Given the description of an element on the screen output the (x, y) to click on. 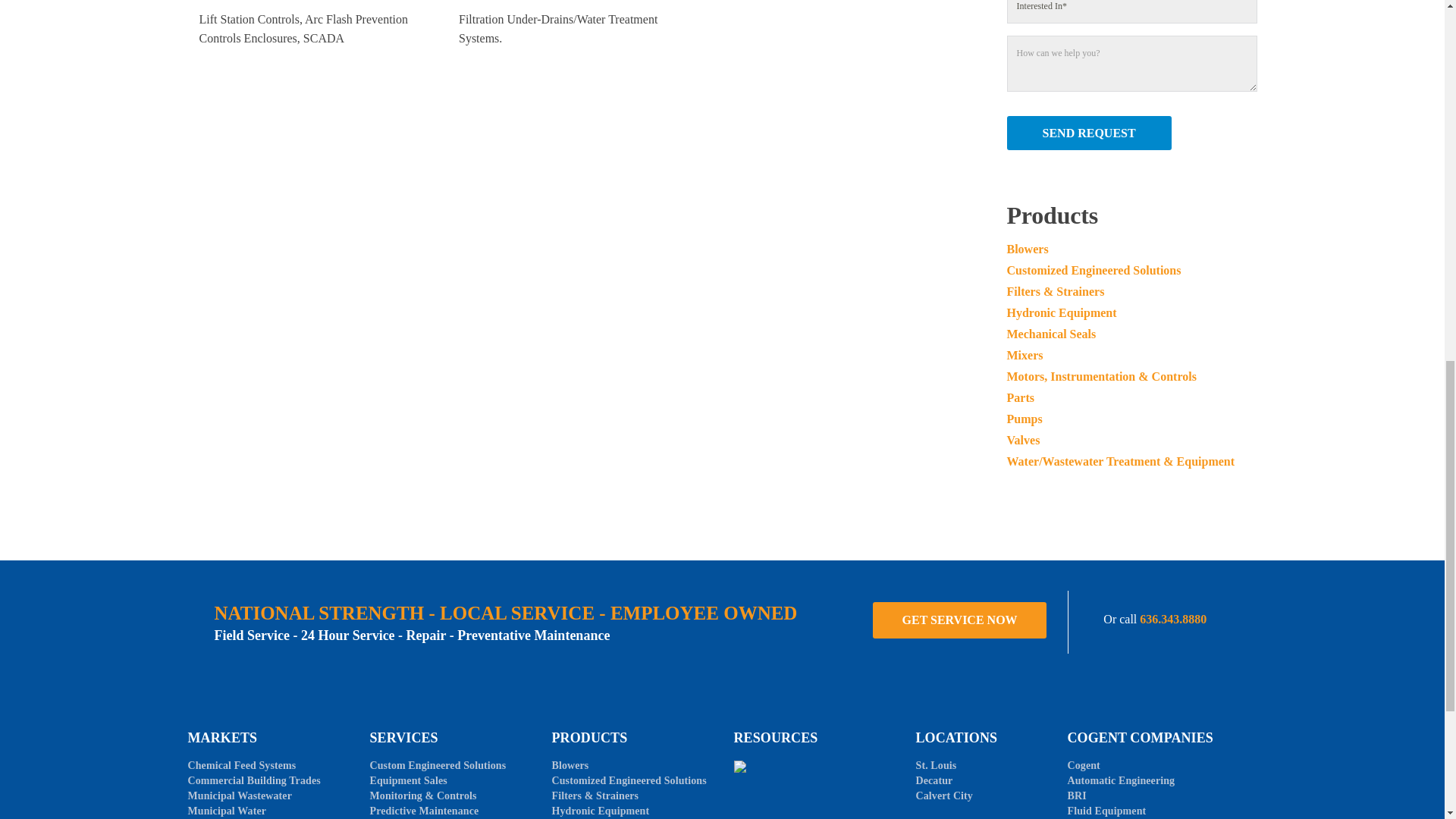
Cogent (1083, 765)
bri (1076, 795)
SEND REQUEST (1089, 132)
fluid equipment (1106, 810)
automatic engineering (1120, 780)
